Given the description of an element on the screen output the (x, y) to click on. 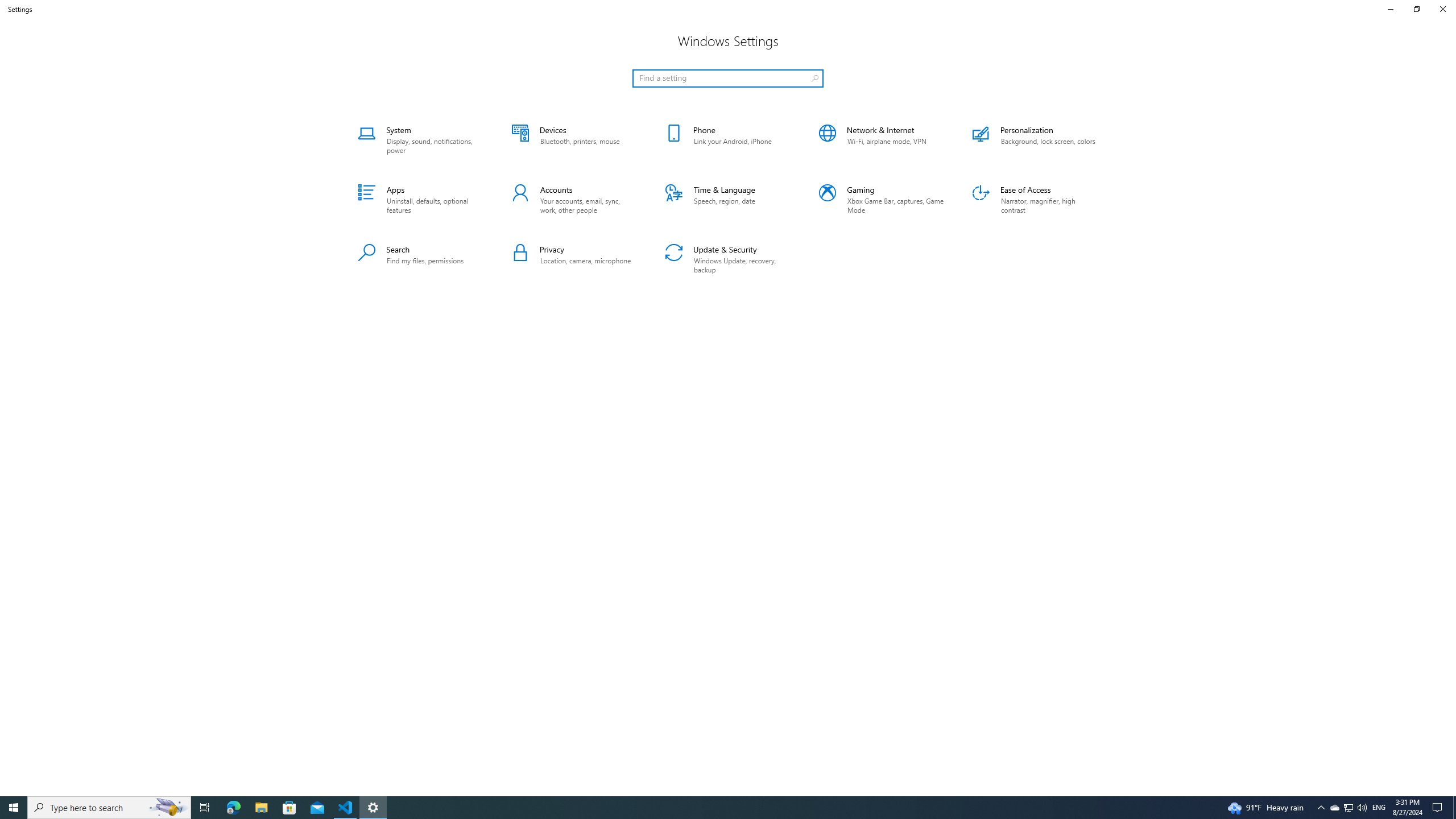
System (420, 140)
Accounts (574, 200)
Tray Input Indicator - English (United States) (1378, 807)
Restore Settings (1416, 9)
Minimize Settings (1390, 9)
Devices (574, 140)
Personalization (1034, 140)
Search box, Find a setting (727, 78)
